Given the description of an element on the screen output the (x, y) to click on. 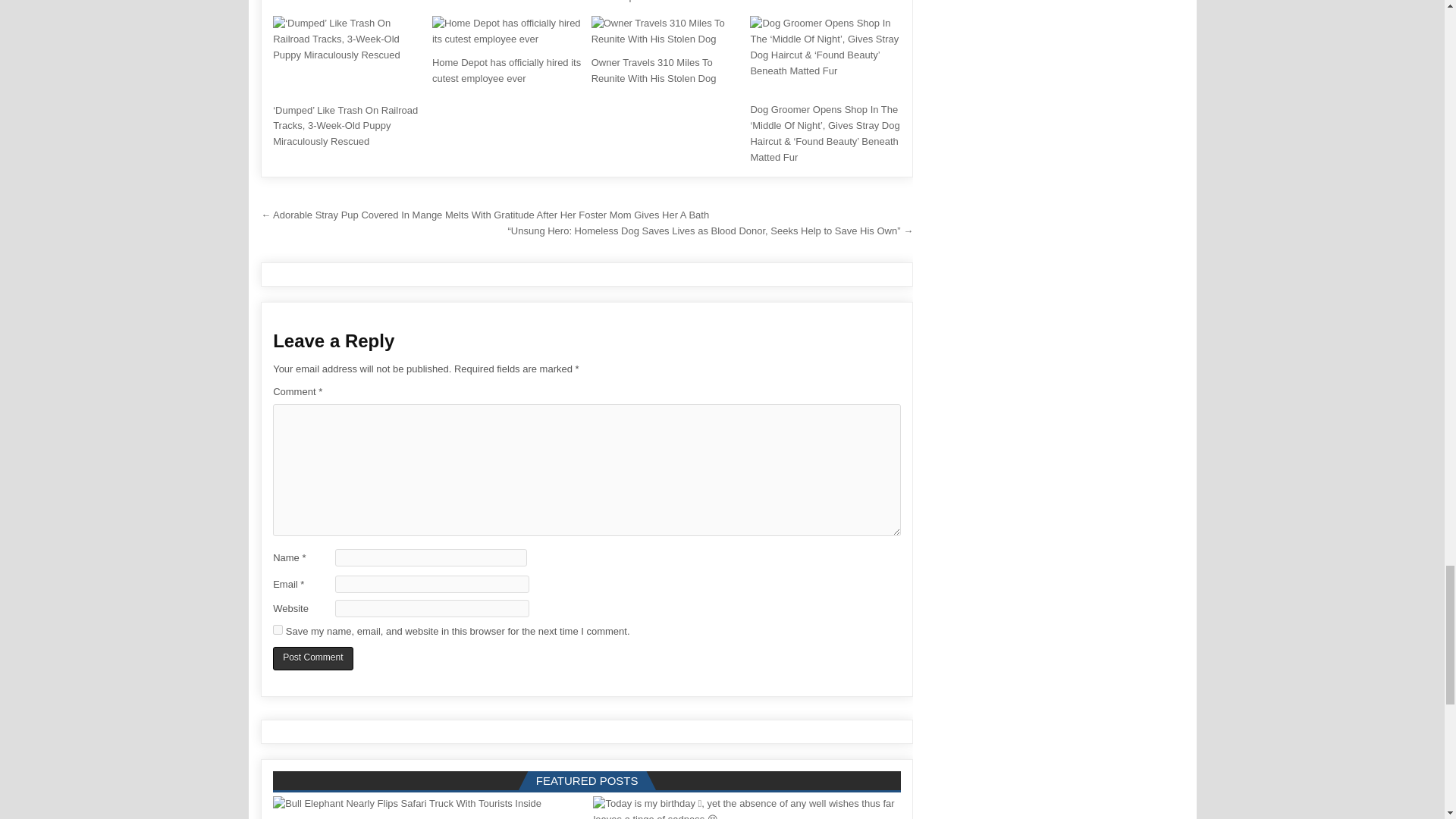
Owner Travels 310 Miles To Reunite With His Stolen Dog (653, 70)
Home Depot has officially hired its cutest employee ever (506, 70)
yes (277, 629)
Post Comment (312, 658)
